Given the description of an element on the screen output the (x, y) to click on. 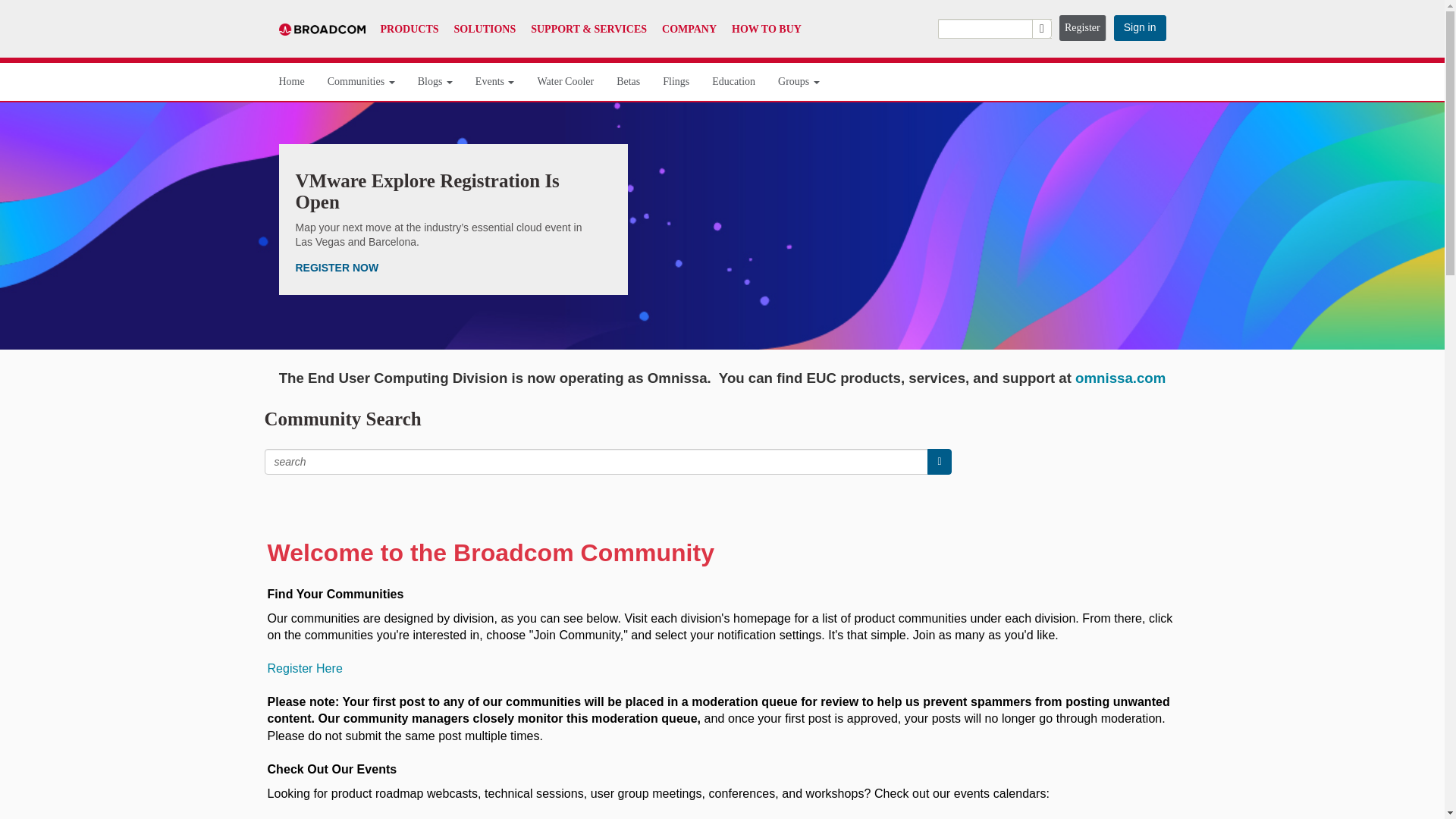
Blogs (434, 81)
Water Cooler (565, 81)
Home (291, 81)
COMPANY (689, 29)
search (938, 461)
SOLUTIONS (485, 29)
search term input (595, 461)
HOW TO BUY (767, 29)
Register (1082, 27)
PRODUCTS (409, 29)
Sign in (1139, 27)
search (994, 28)
Events (495, 81)
Communities (360, 81)
